Given the description of an element on the screen output the (x, y) to click on. 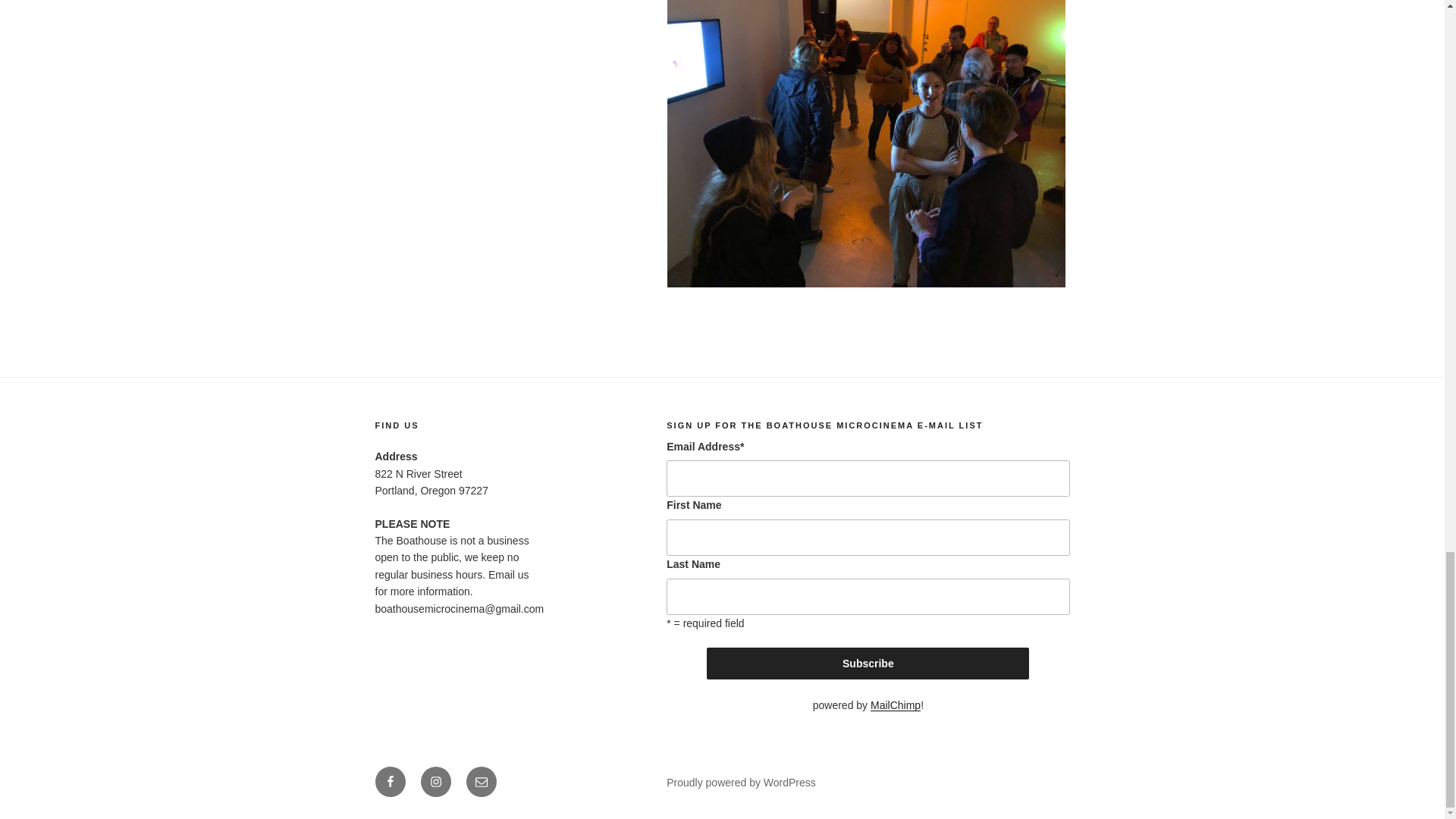
Proudly powered by WordPress (740, 782)
Instagram (435, 781)
Subscribe (867, 663)
MailChimp (895, 705)
Facebook (389, 781)
Subscribe (867, 663)
Email (480, 781)
